Given the description of an element on the screen output the (x, y) to click on. 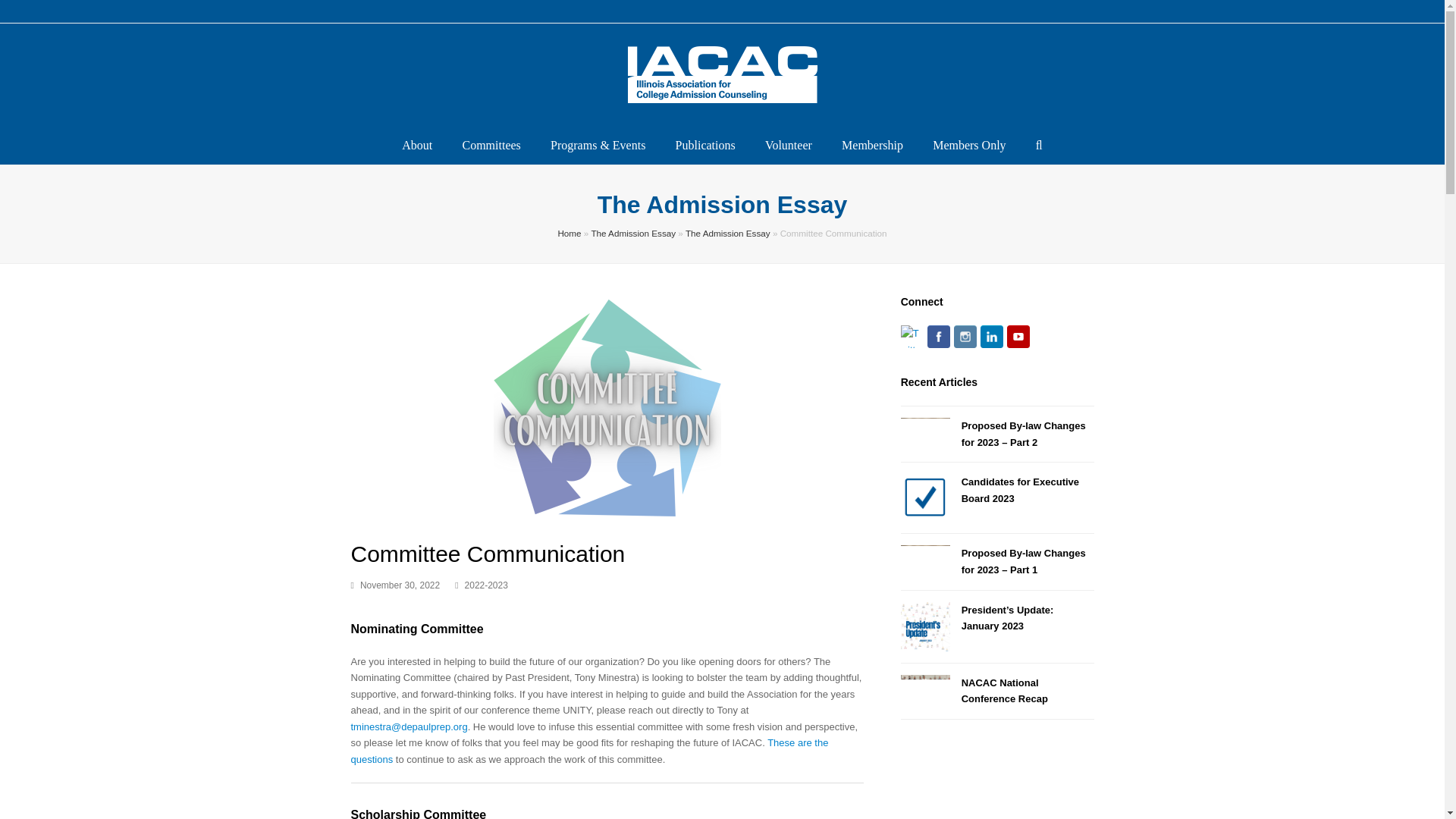
2022-2023 (486, 584)
Candidates for Executive Board 2023 (925, 497)
Facebook (938, 336)
Committees (491, 145)
Enlarge Image (606, 513)
LinkedIn (991, 336)
Member Login Required (968, 145)
Instagram (964, 336)
About (416, 145)
Twitter (912, 336)
